Given the description of an element on the screen output the (x, y) to click on. 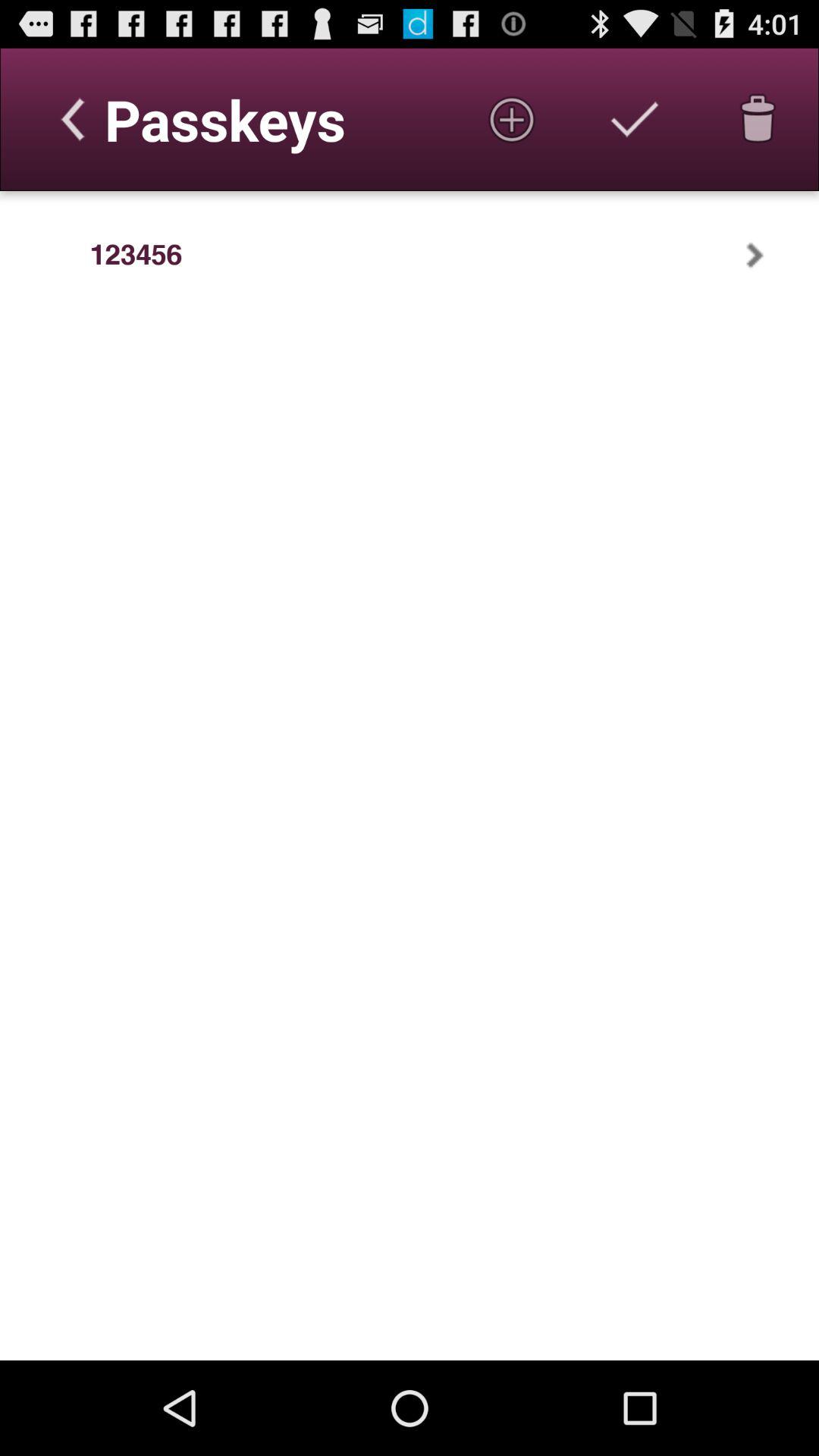
launch the app to the right of 123456 app (773, 254)
